Given the description of an element on the screen output the (x, y) to click on. 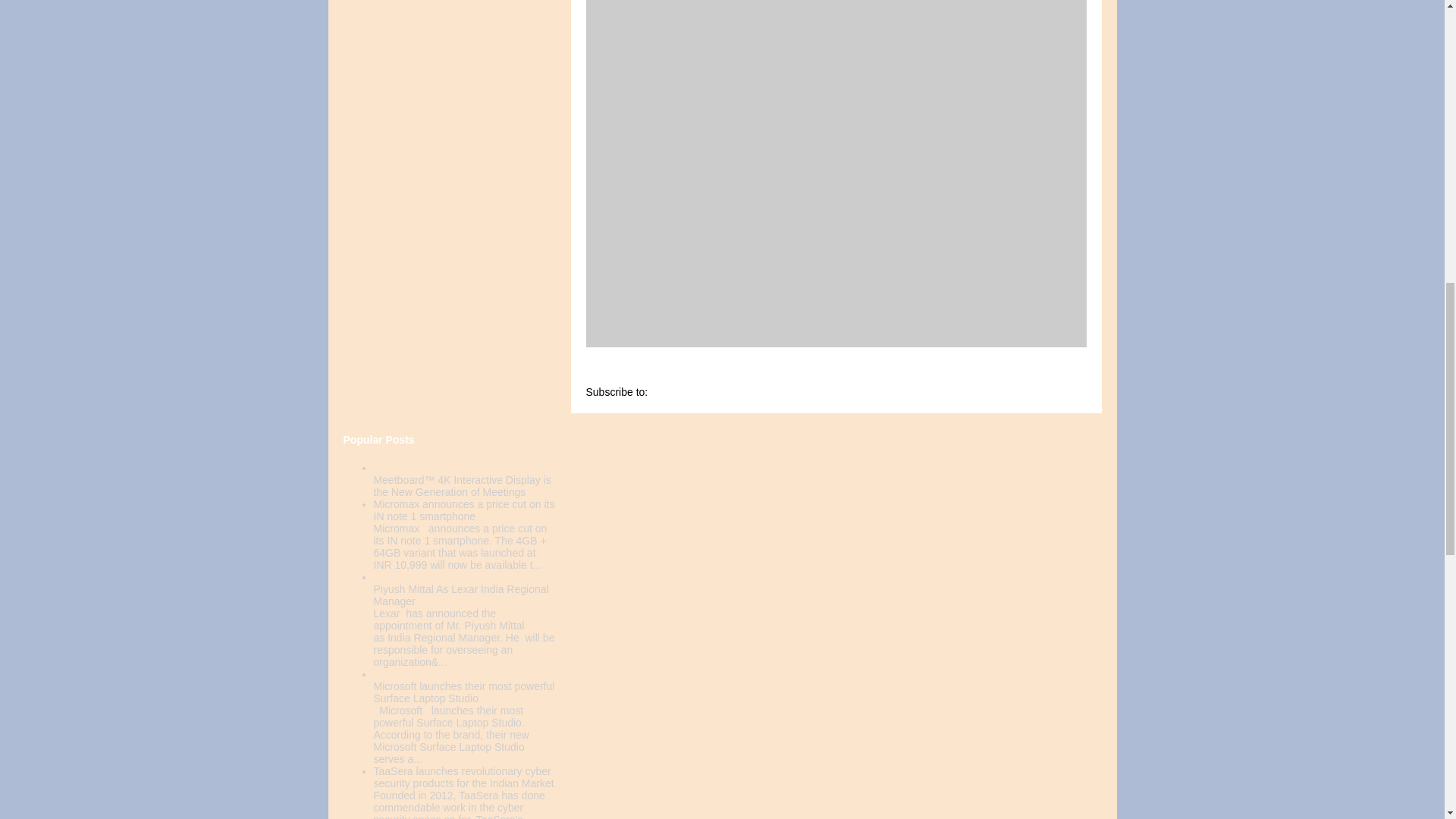
Micromax announces a price cut on its IN note 1 smartphone (463, 509)
Newer Post (623, 376)
Newer Post (623, 376)
Home (760, 376)
Piyush Mittal As Lexar India Regional Manager (460, 595)
Microsoft launches their most powerful Surface Laptop Studio (463, 692)
Older Post (701, 376)
Older Post (701, 376)
